Given the description of an element on the screen output the (x, y) to click on. 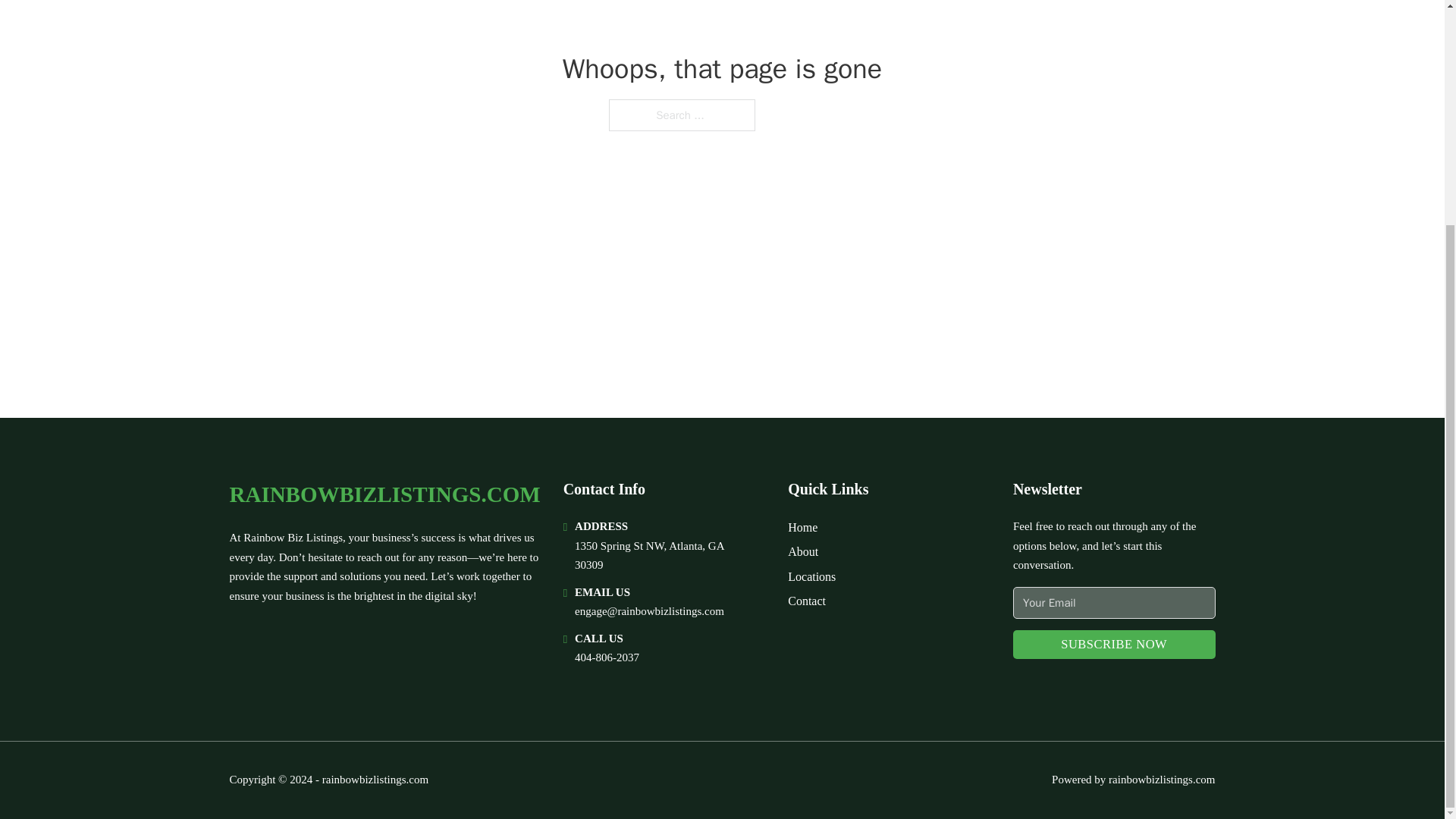
404-806-2037 (607, 657)
Home (801, 526)
RAINBOWBIZLISTINGS.COM (384, 494)
SUBSCRIBE NOW (1114, 644)
Locations (811, 576)
Contact (806, 600)
About (802, 551)
